Given the description of an element on the screen output the (x, y) to click on. 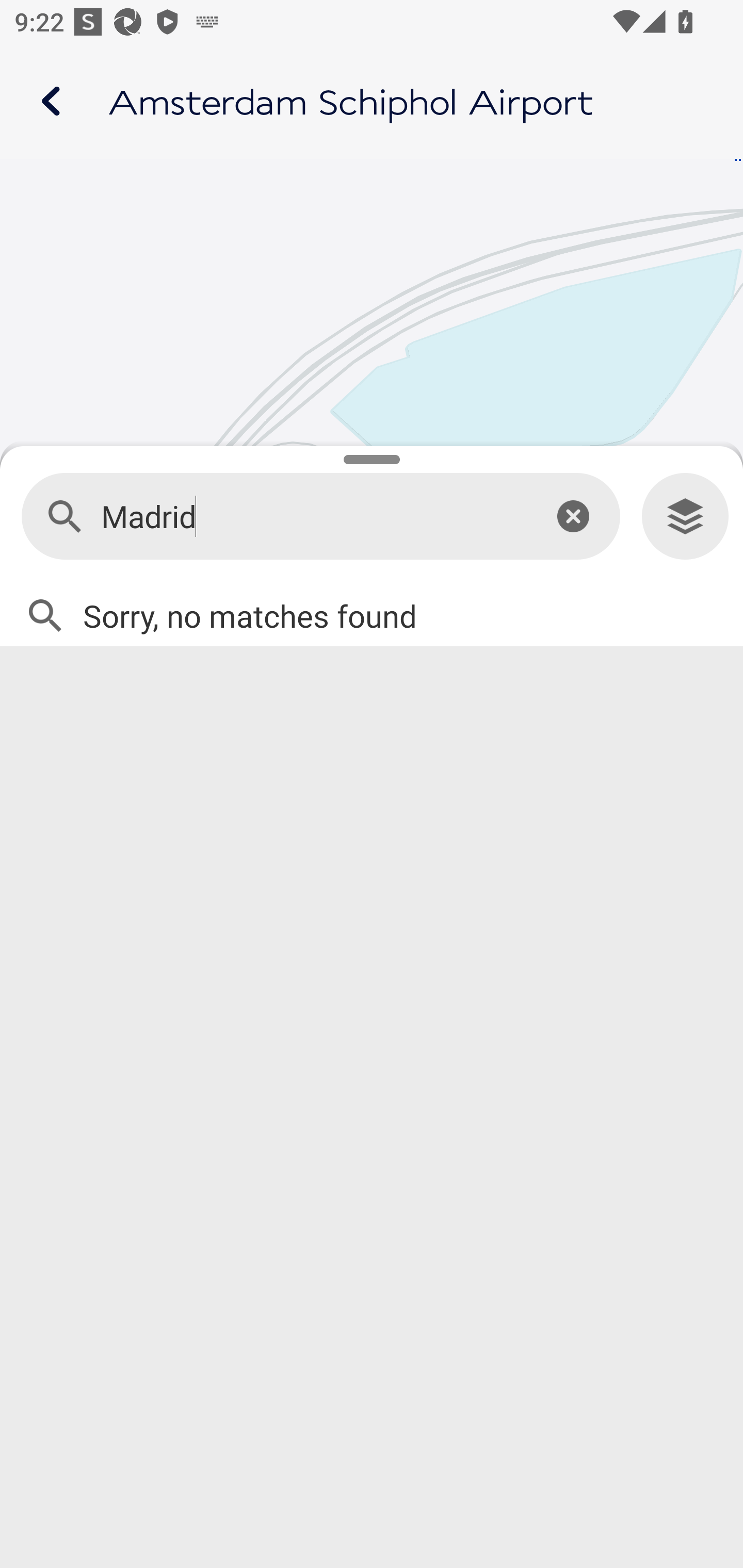
Airport map (371, 100)
Madrid (311, 516)
Levels (684, 516)
This is an icon for clearing the text field. (573, 515)
